Given the description of an element on the screen output the (x, y) to click on. 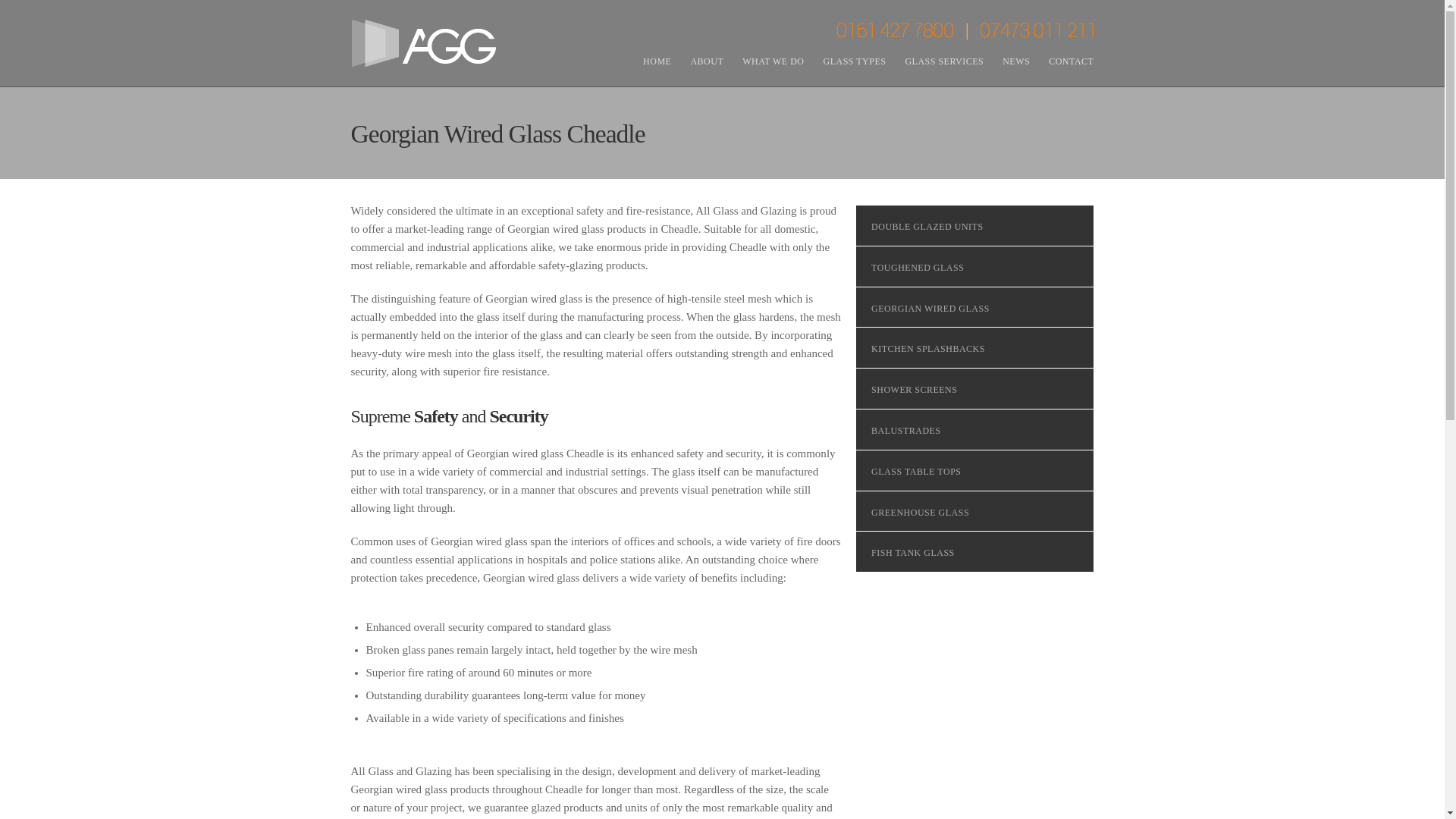
GLASS TYPES (853, 61)
CONTACT (1070, 61)
ABOUT (706, 61)
WHAT WE DO (772, 61)
GLASS SERVICES (944, 61)
HOME (657, 61)
NEWS (1016, 61)
